Given the description of an element on the screen output the (x, y) to click on. 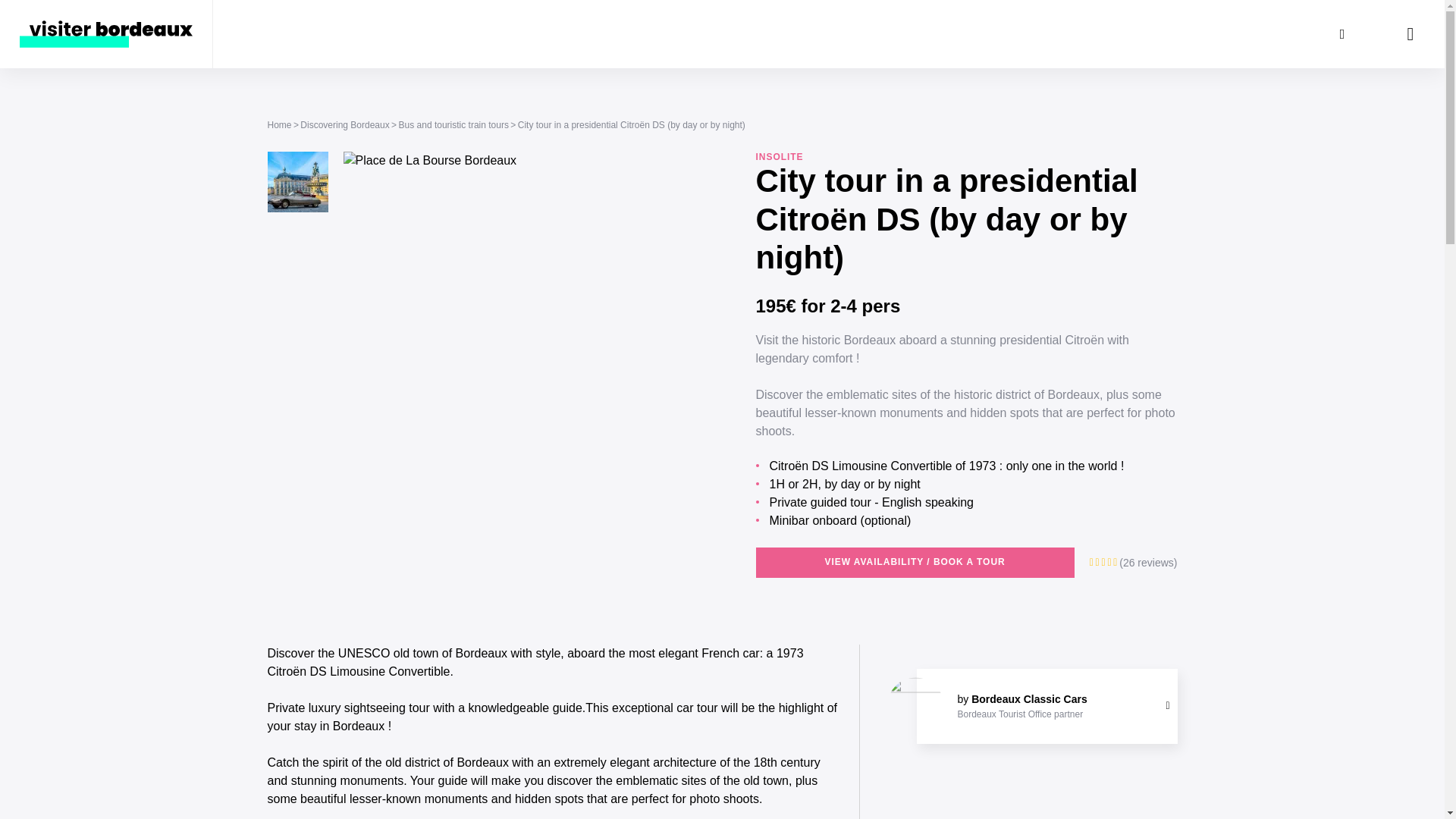
Home (279, 124)
Discovering Bordeaux (344, 124)
Place de La Bourse Bordeaux (296, 181)
Search (1341, 33)
Bus and touristic train tours (453, 124)
